Given the description of an element on the screen output the (x, y) to click on. 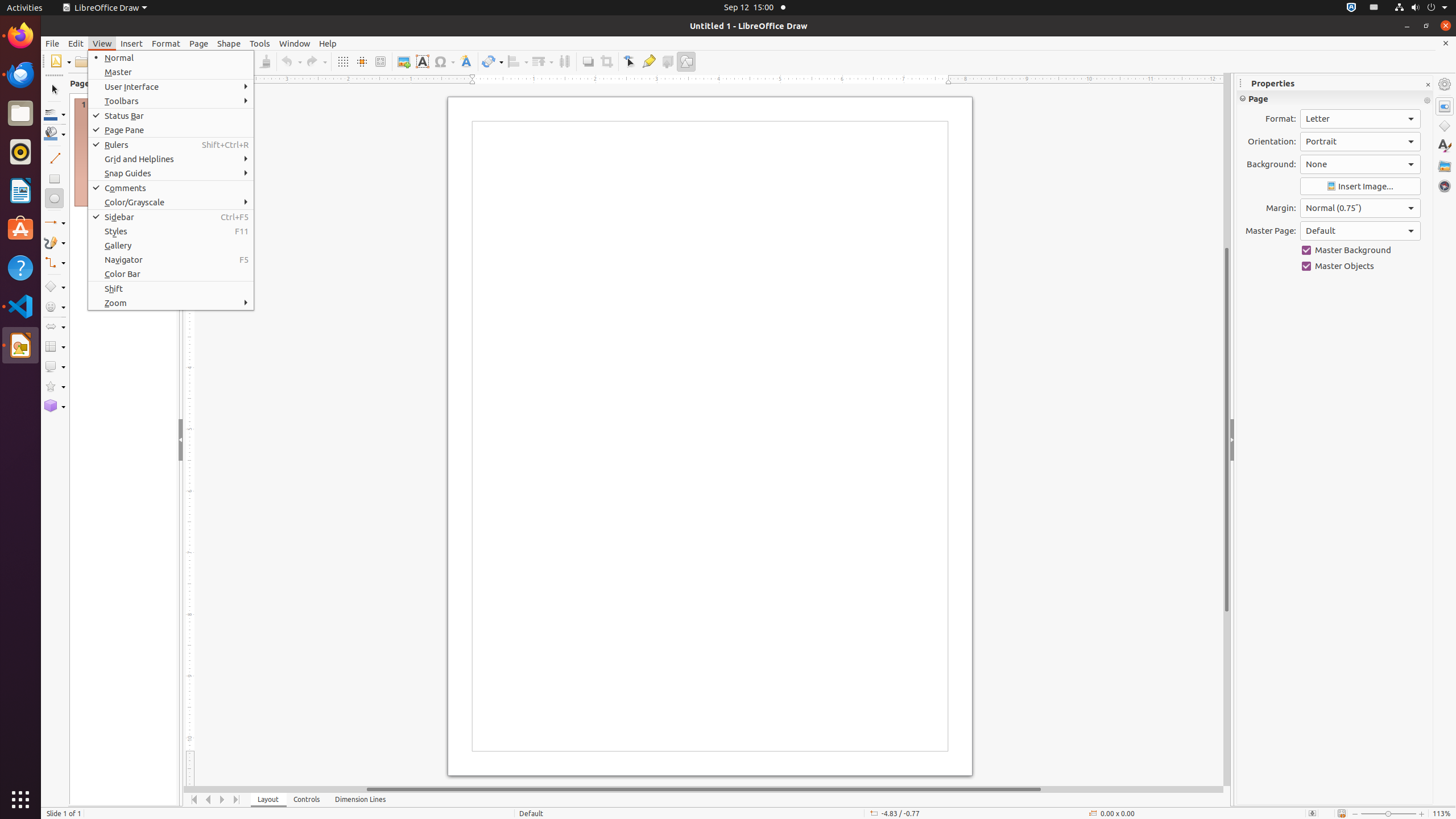
Ubuntu Software Element type: push-button (20, 229)
Properties Element type: radio-button (1444, 106)
Styles Element type: radio-button (1444, 146)
Image Element type: push-button (403, 61)
Master Background Element type: check-box (1360, 249)
